Given the description of an element on the screen output the (x, y) to click on. 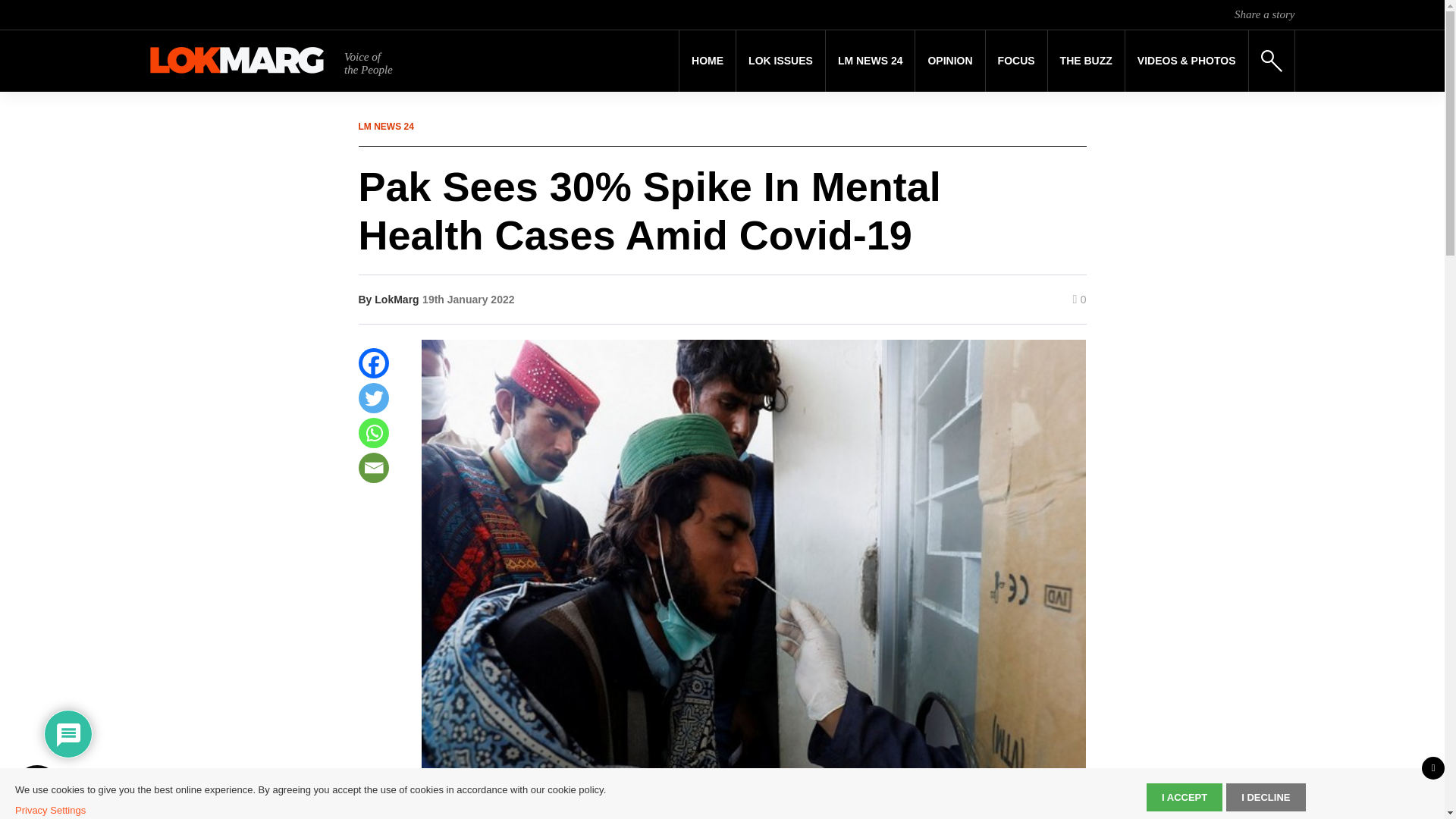
Lok Issues (780, 60)
LokMarg (396, 299)
Share a story (1264, 14)
HOME (707, 60)
Facebook (373, 363)
THE BUZZ (1086, 60)
Home (707, 60)
Opinion (949, 60)
FOCUS (1015, 60)
Whatsapp (373, 432)
LM News 24 (870, 60)
OPINION (949, 60)
Focus (1015, 60)
LM NEWS 24 (870, 60)
Twitter (373, 398)
